Given the description of an element on the screen output the (x, y) to click on. 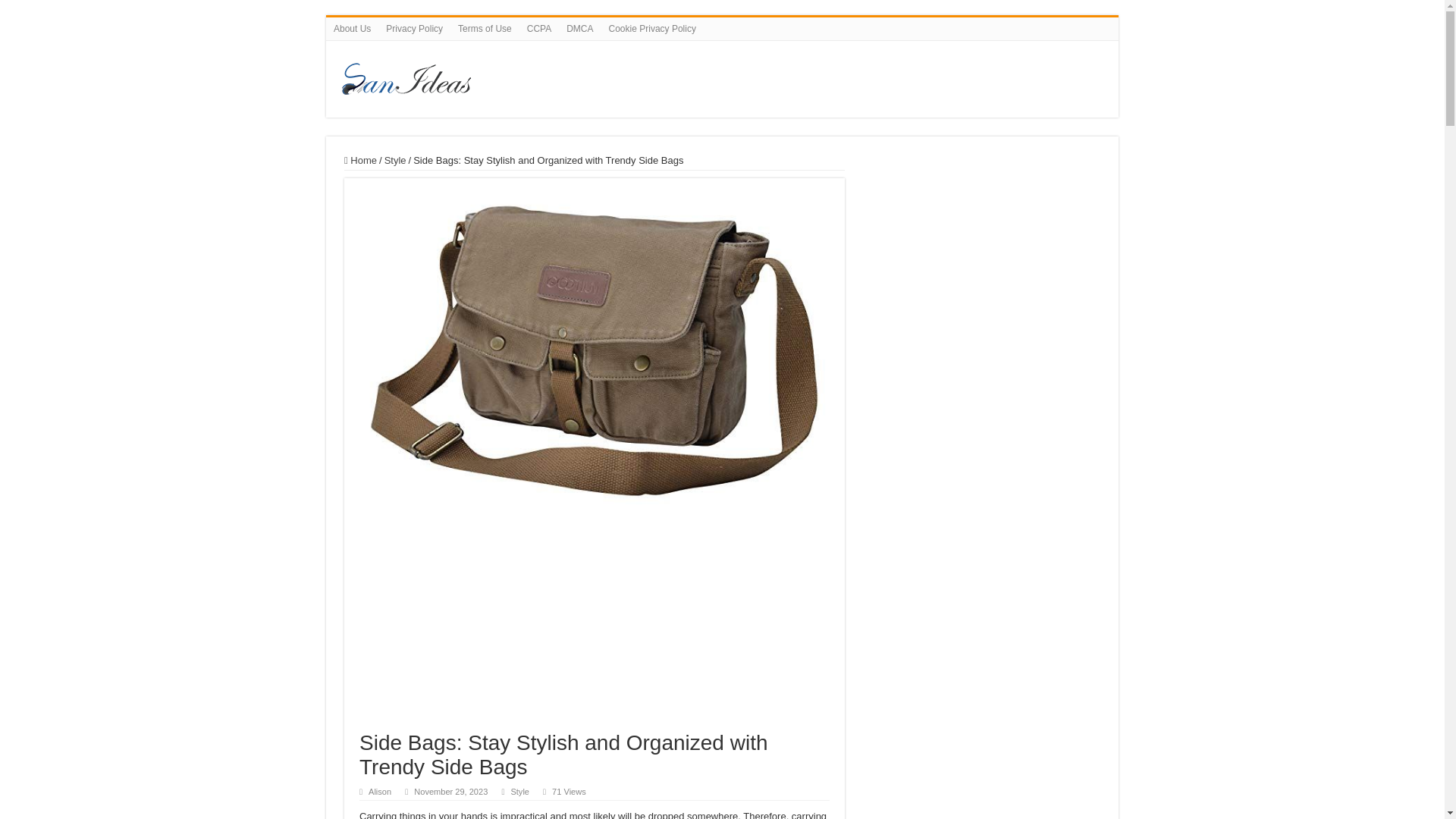
sanideas.com (640, 76)
CCPA (539, 28)
Advertisement (594, 624)
About Us (352, 28)
DMCA (579, 28)
Style (395, 160)
Privacy Policy (413, 28)
Terms of Use (484, 28)
Cookie Privacy Policy (652, 28)
Advertisement (982, 248)
Style (520, 791)
Alison (379, 791)
Home (360, 160)
